Given the description of an element on the screen output the (x, y) to click on. 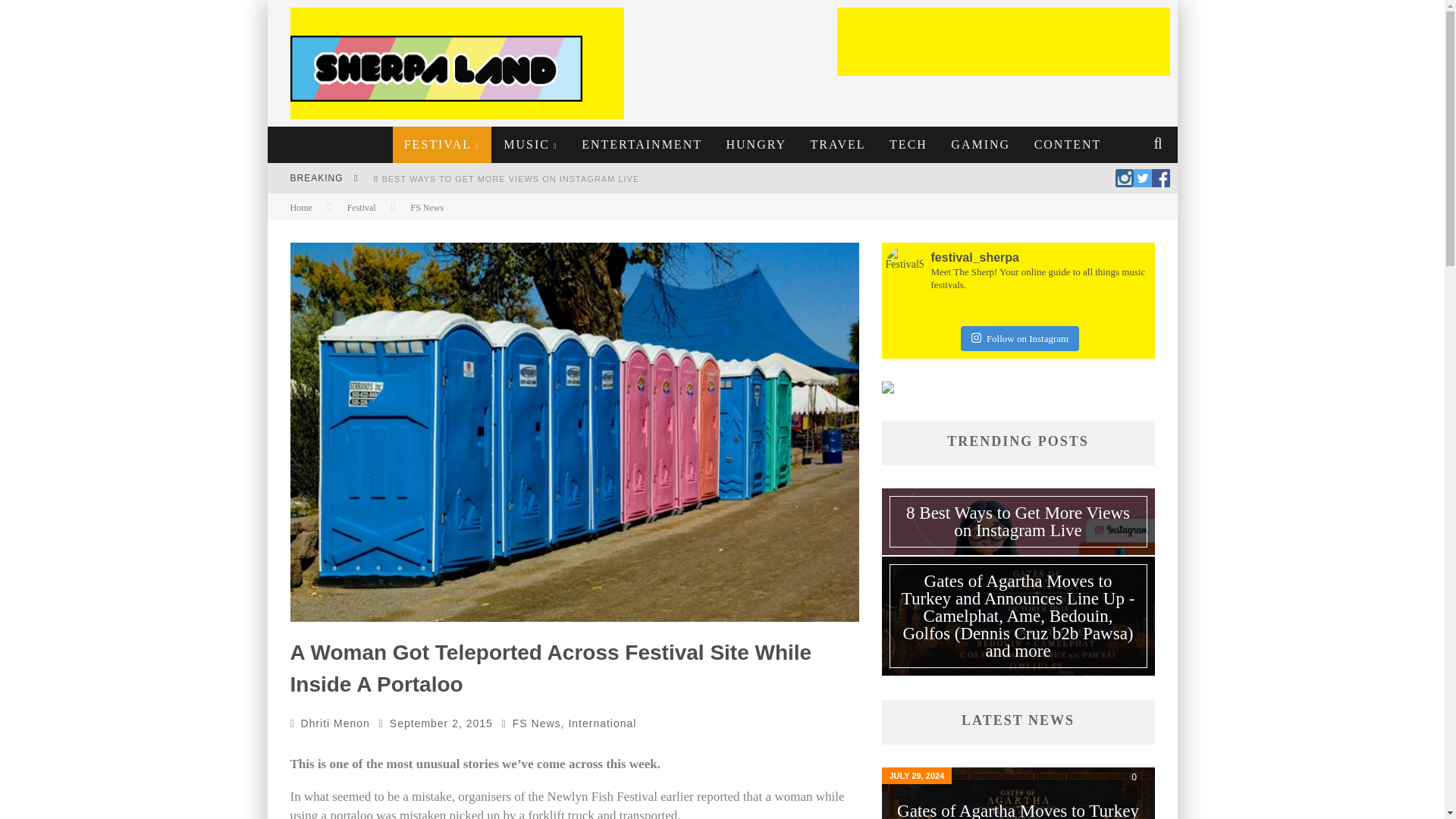
View all posts in Festival (361, 207)
Log In (721, 470)
FESTIVAL (442, 144)
8 Best Ways to Get More Views on Instagram Live (505, 178)
